Given the description of an element on the screen output the (x, y) to click on. 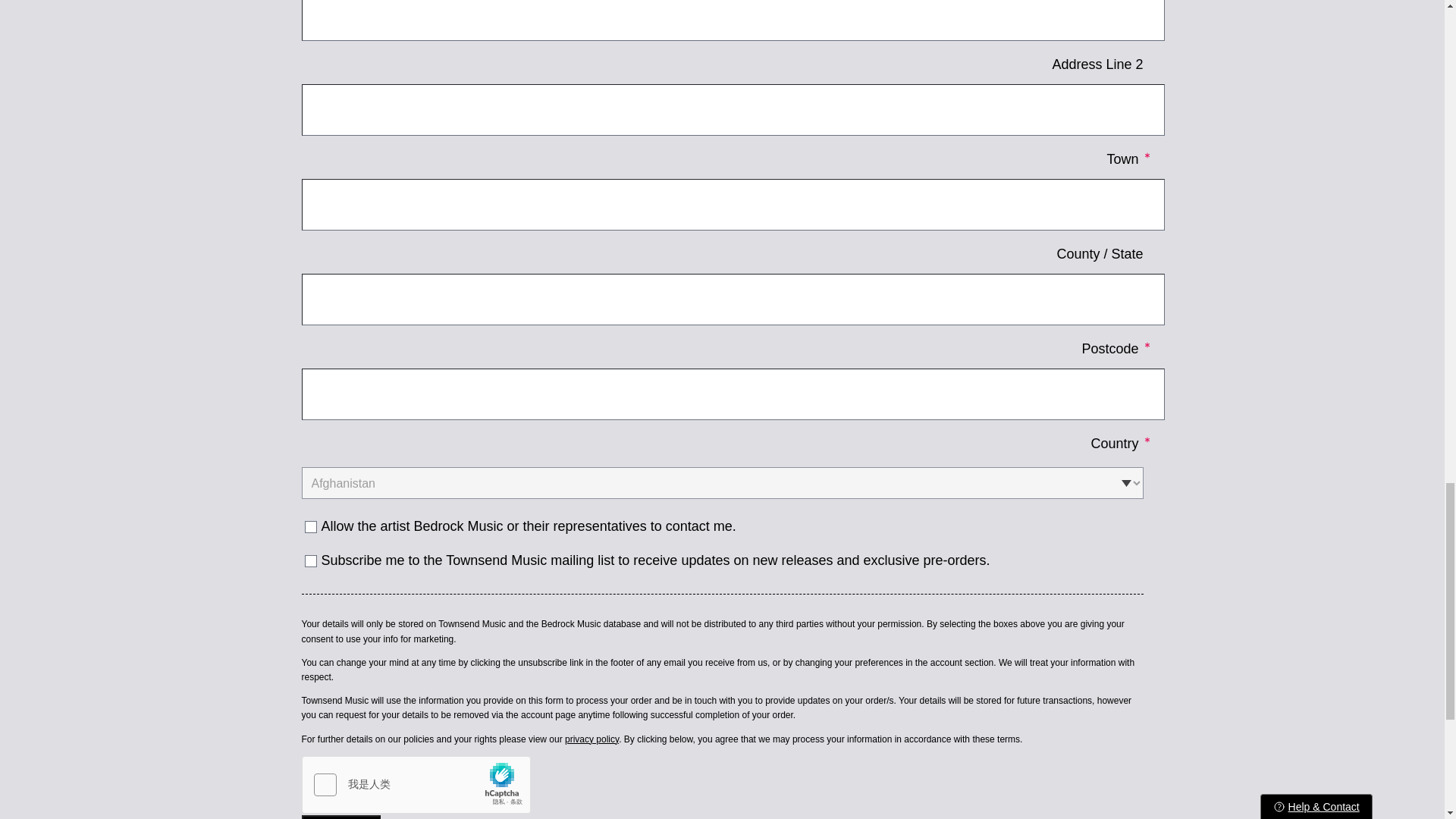
on (310, 526)
on (310, 561)
Required (1147, 345)
Required (1147, 439)
Required (1147, 155)
